Given the description of an element on the screen output the (x, y) to click on. 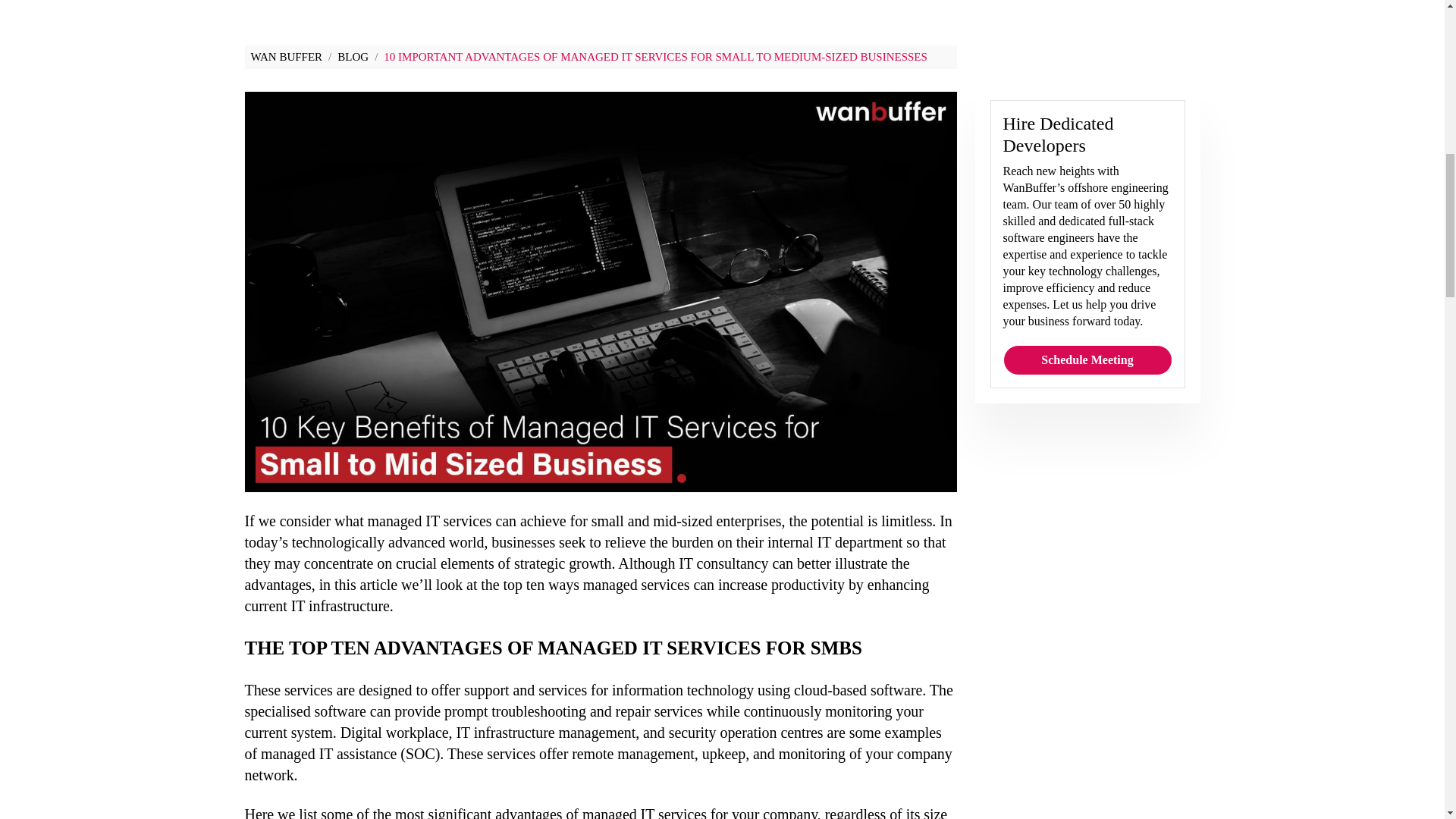
WAN BUFFER (285, 56)
Schedule Meeting (1087, 320)
BLOG (352, 56)
